Given the description of an element on the screen output the (x, y) to click on. 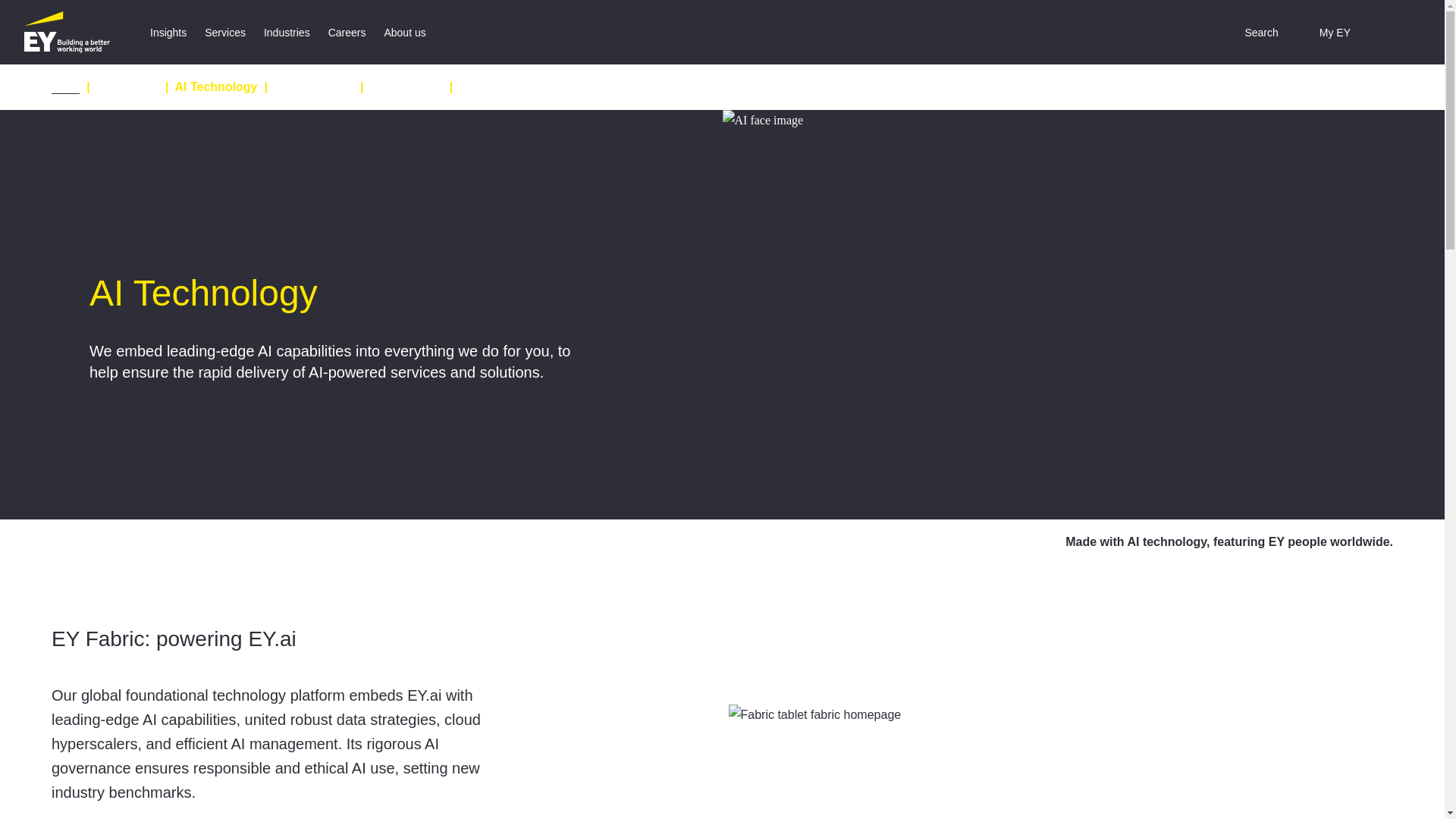
EY Homepage (67, 32)
My EY (1324, 32)
Open search (1250, 32)
